Given the description of an element on the screen output the (x, y) to click on. 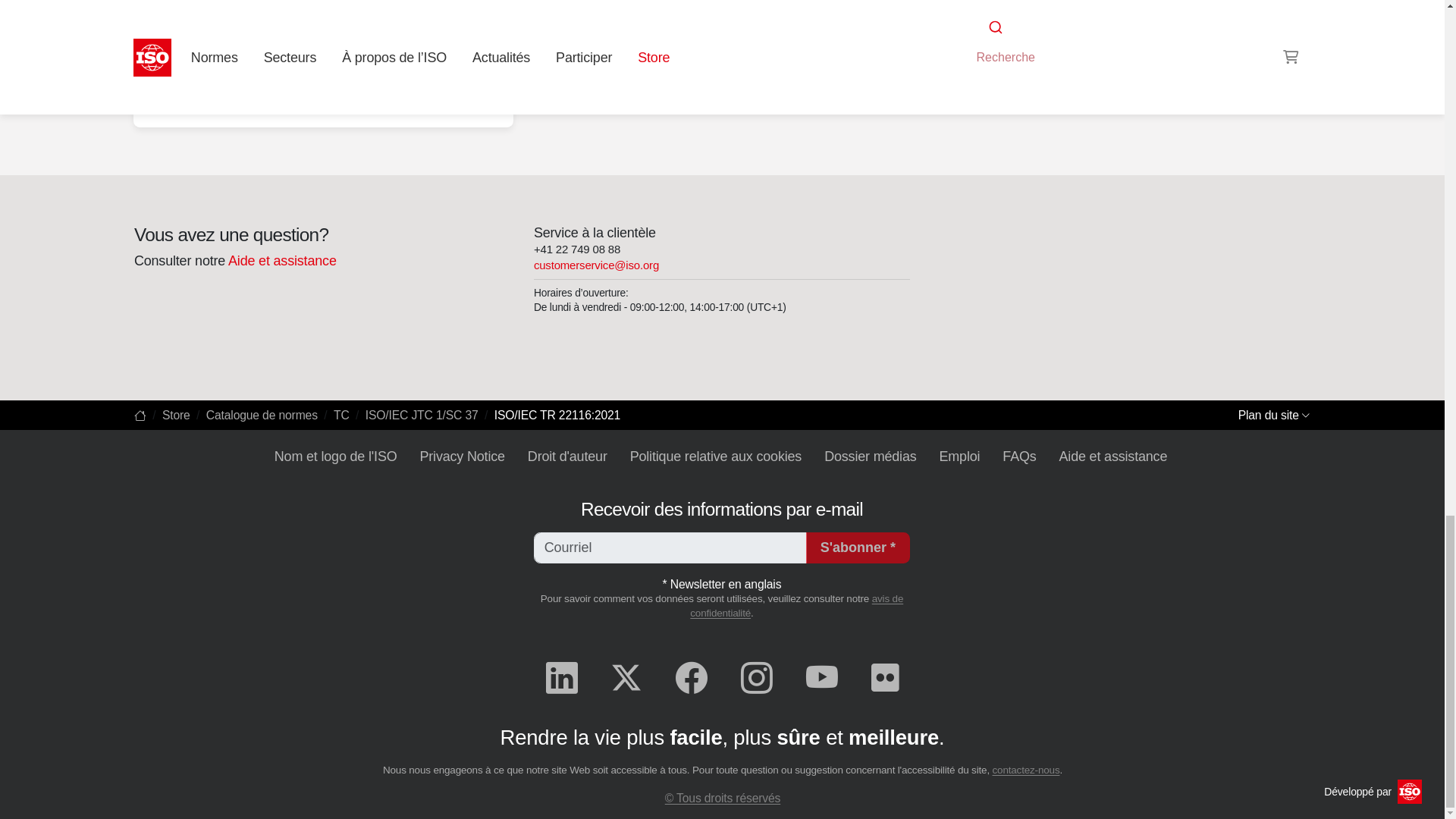
Industrie, innovation et infrastructure (323, 102)
